Given the description of an element on the screen output the (x, y) to click on. 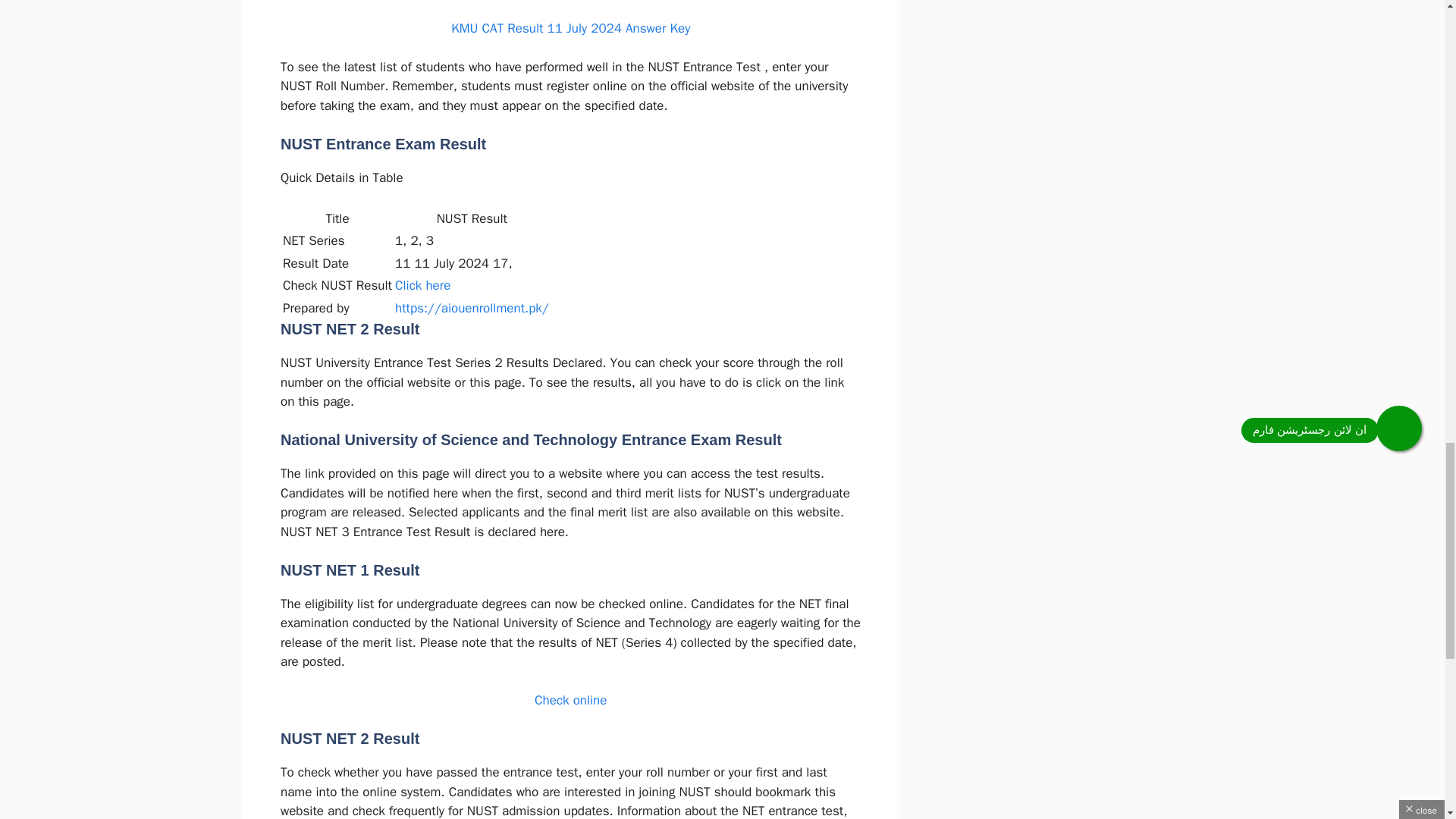
Click here (421, 285)
KMU CAT Result 11 July 2024 Answer Key (570, 28)
Check online (570, 700)
